Given the description of an element on the screen output the (x, y) to click on. 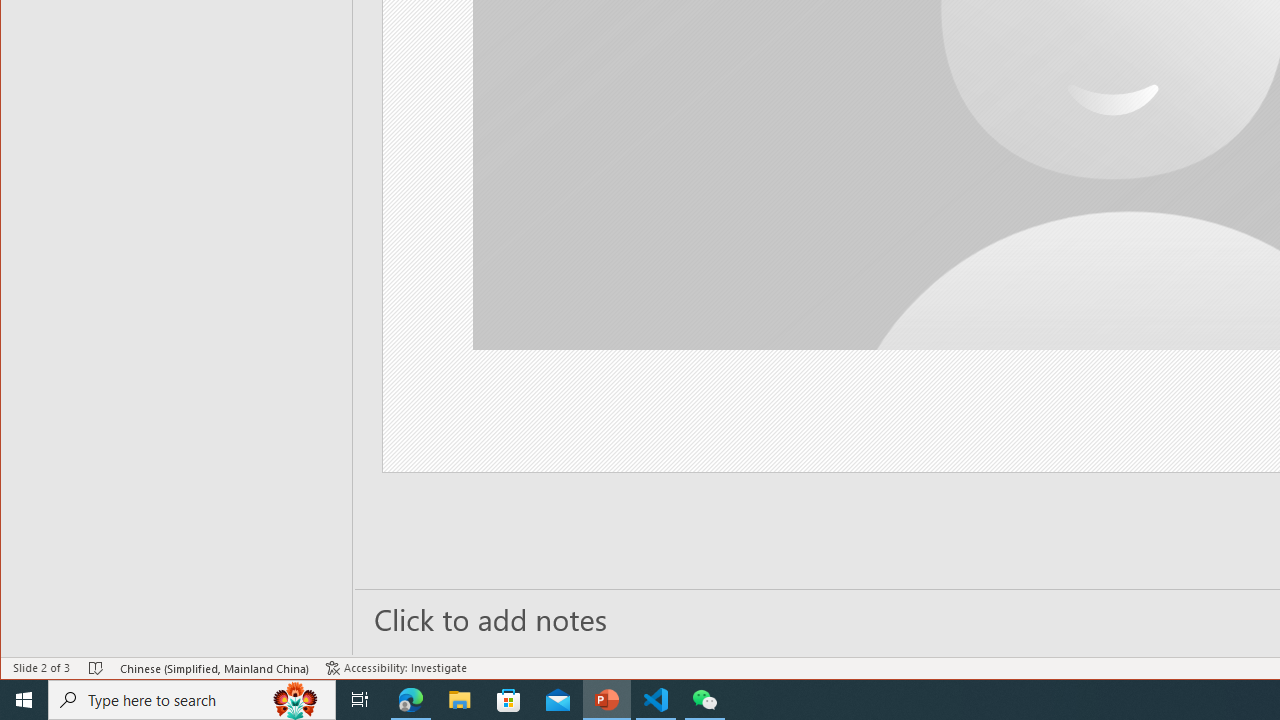
WeChat - 1 running window (704, 699)
